Given the description of an element on the screen output the (x, y) to click on. 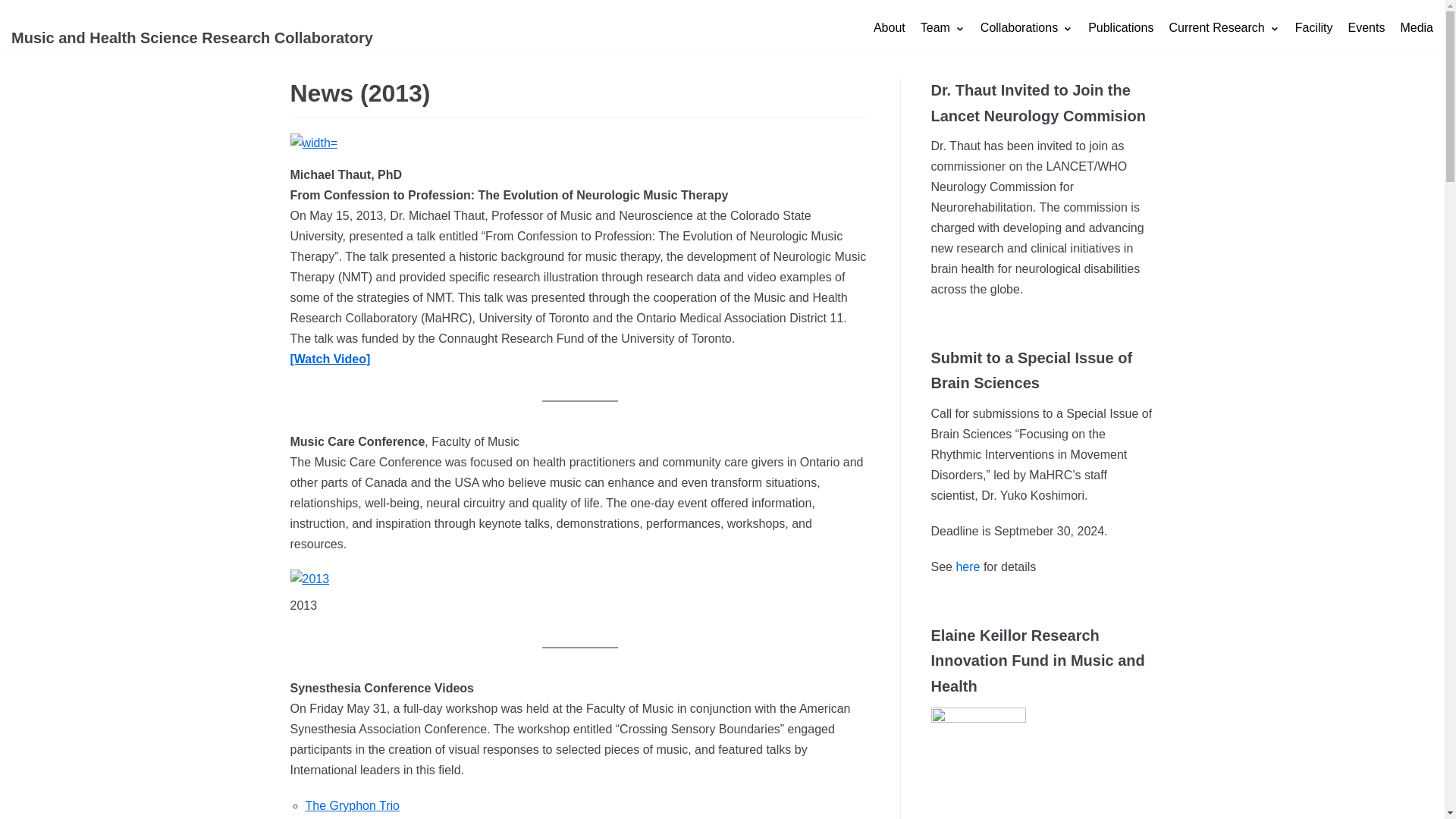
Media (1415, 27)
About (889, 27)
Events (1366, 27)
Publications (1120, 27)
Music and Health Science Research Collaboratory (191, 27)
Current Research (1224, 27)
Team (942, 27)
Facility (1314, 27)
Music and Health Science Research Collaboratory (191, 27)
Collaborations (1026, 27)
